Given the description of an element on the screen output the (x, y) to click on. 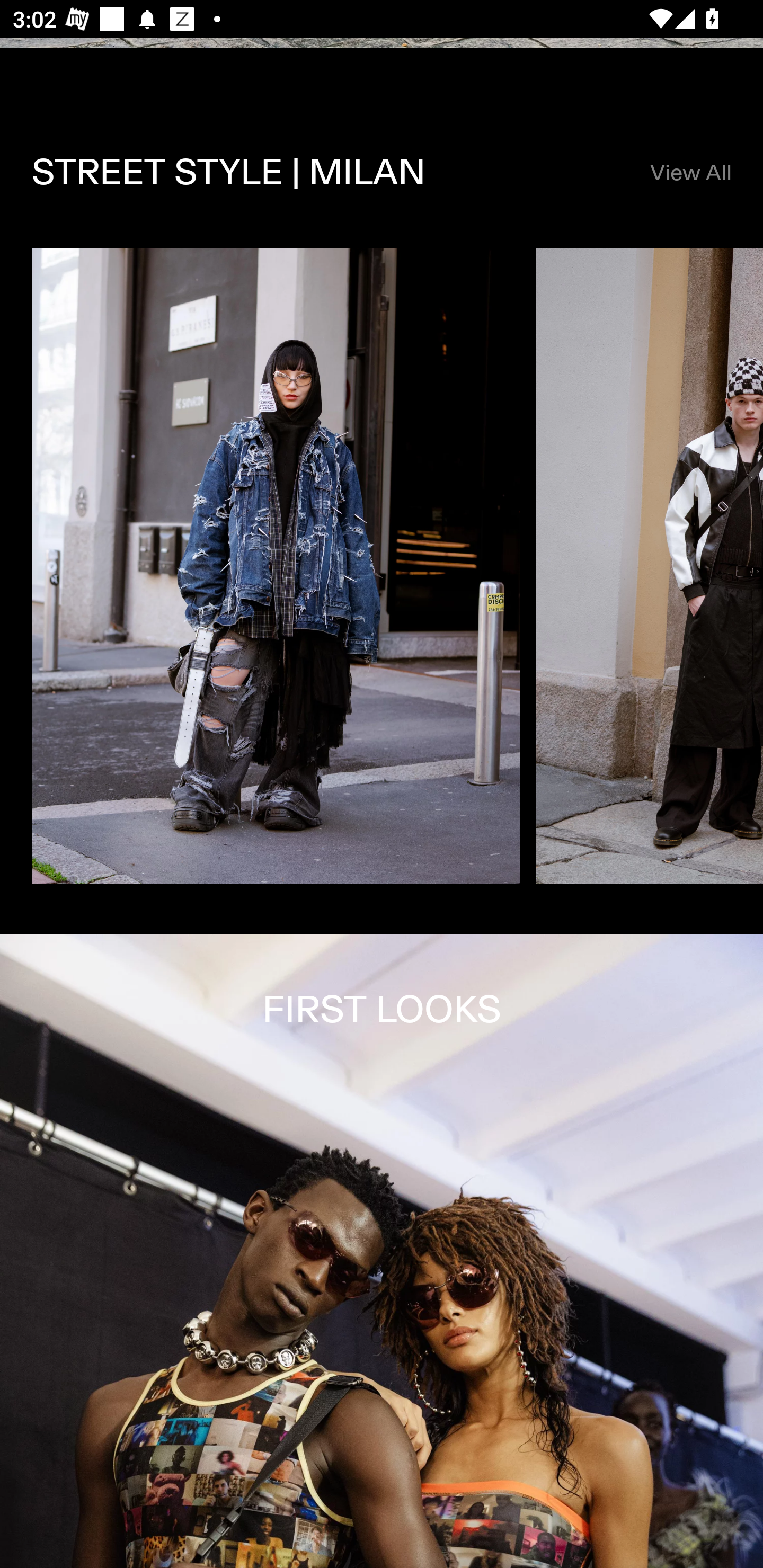
View All (690, 173)
FIRST LOOKS DIESEL FALL '24 (381, 1251)
